Given the description of an element on the screen output the (x, y) to click on. 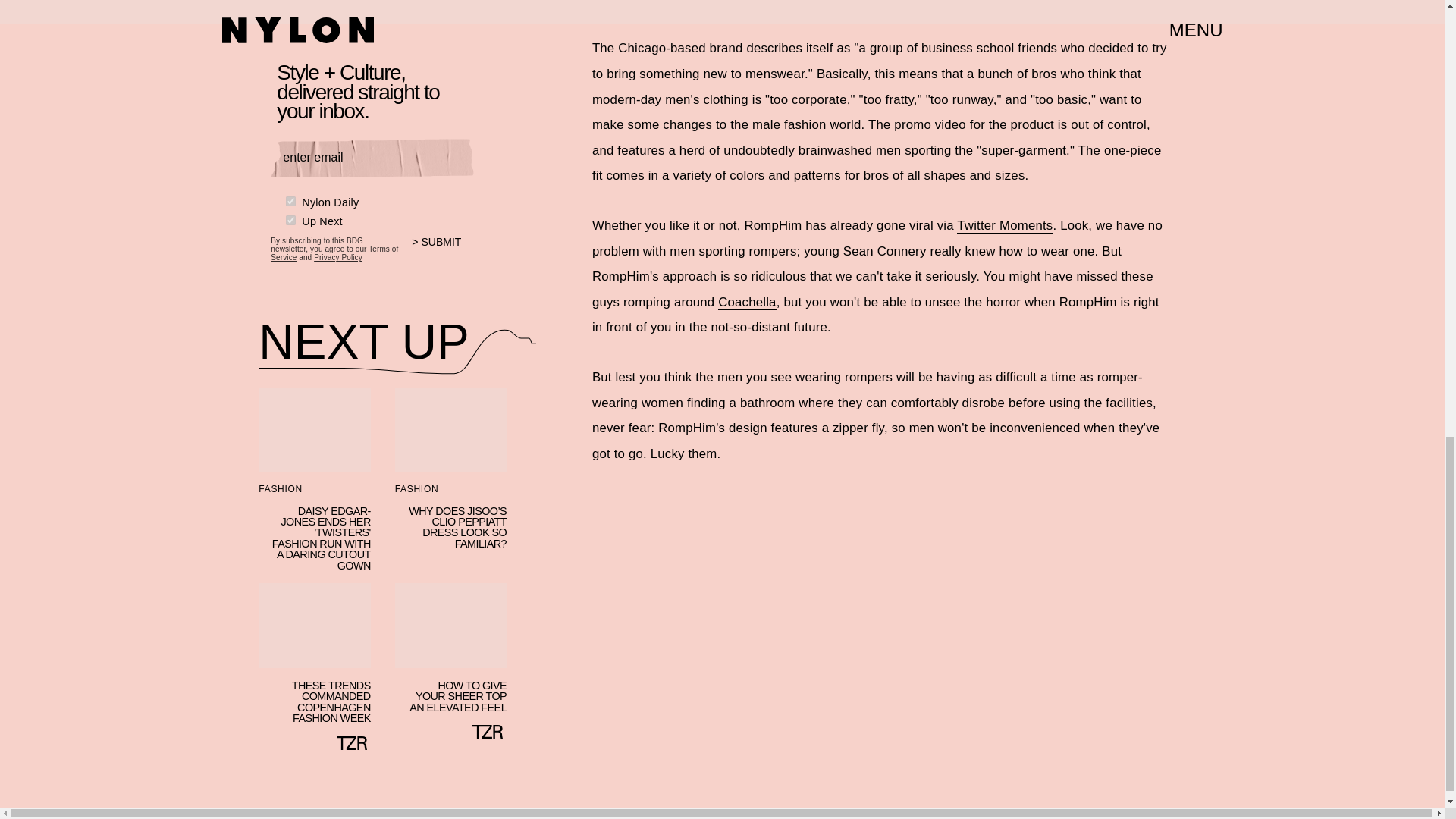
Terms of Service (333, 252)
SUBMIT (443, 251)
Privacy Policy (338, 257)
young Sean Connery (864, 251)
Twitter Moments (1004, 225)
Coachella (746, 302)
